Given the description of an element on the screen output the (x, y) to click on. 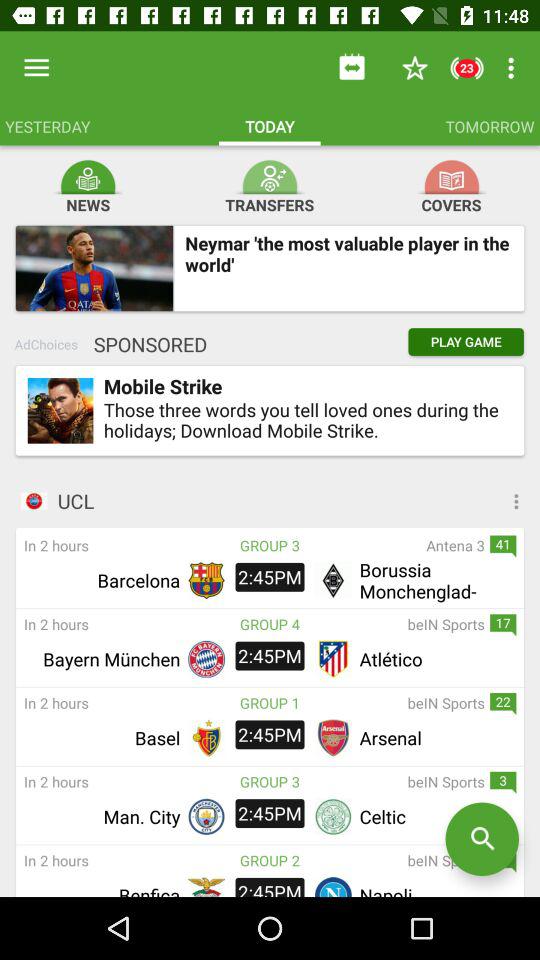
open search (482, 839)
